Given the description of an element on the screen output the (x, y) to click on. 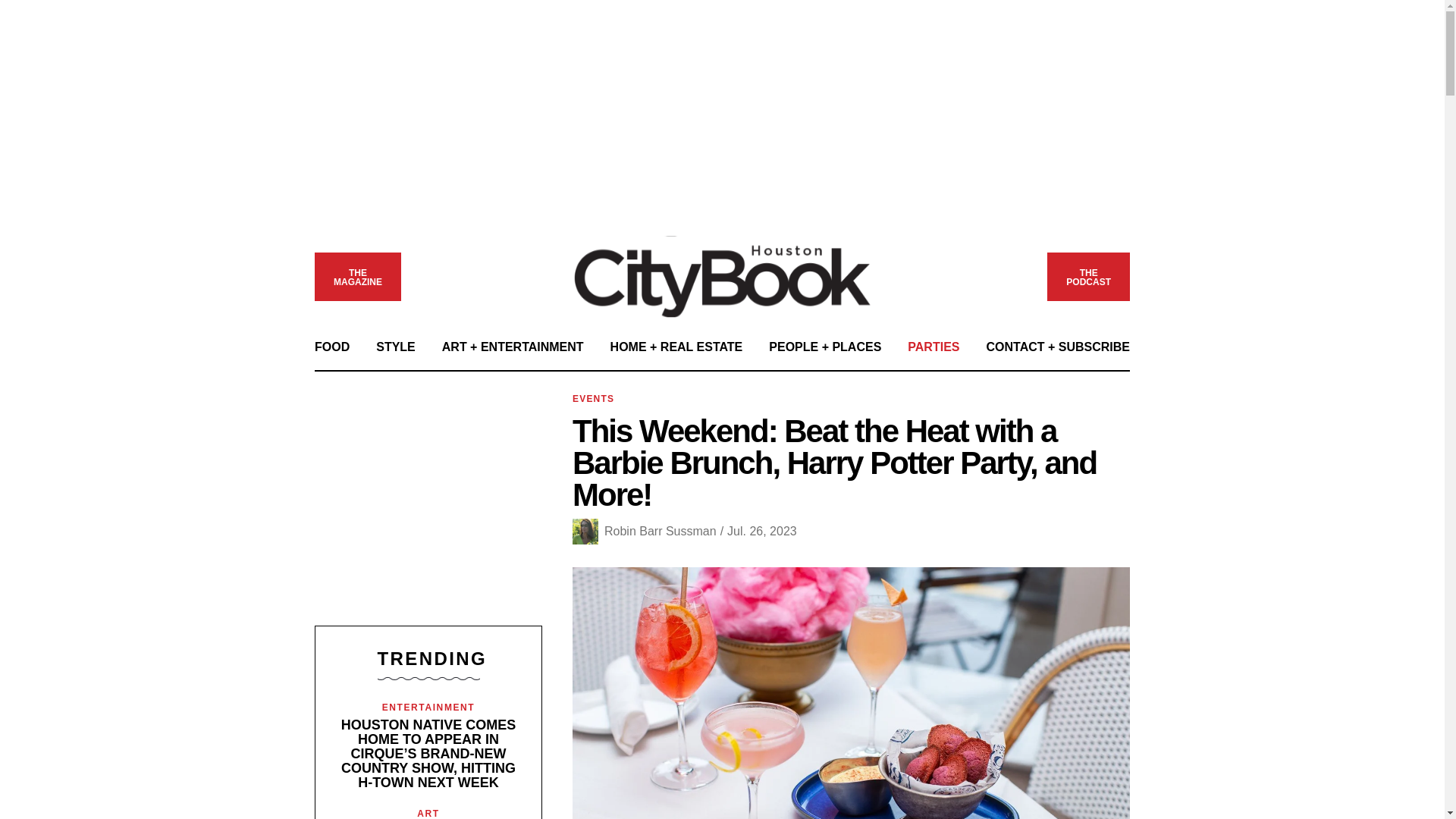
STYLE (394, 346)
FOOD (1087, 277)
Houston CityBook logo (331, 346)
3rd party ad content (724, 276)
3rd party ad content (427, 503)
